Given the description of an element on the screen output the (x, y) to click on. 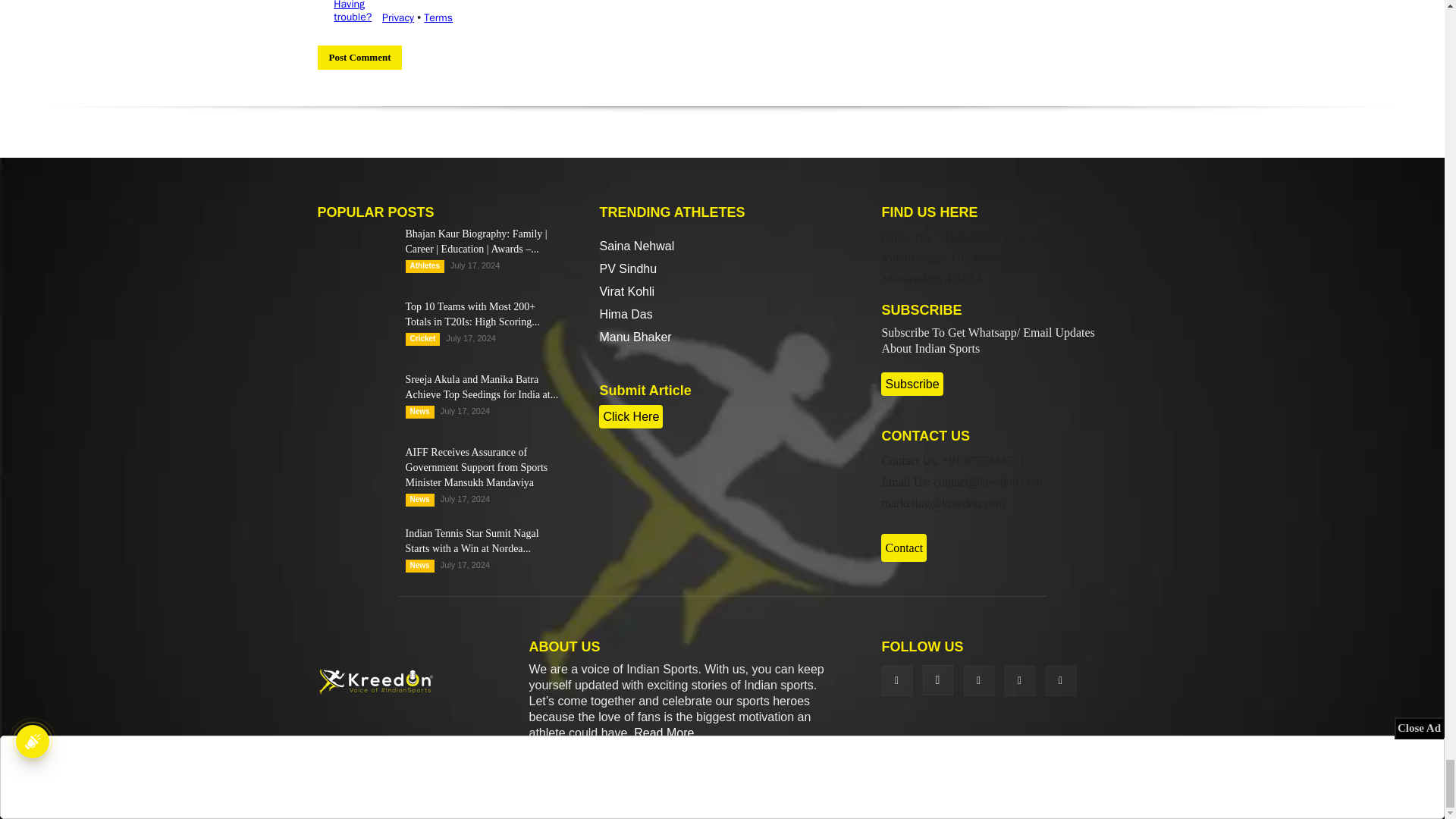
Post Comment (359, 57)
